Given the description of an element on the screen output the (x, y) to click on. 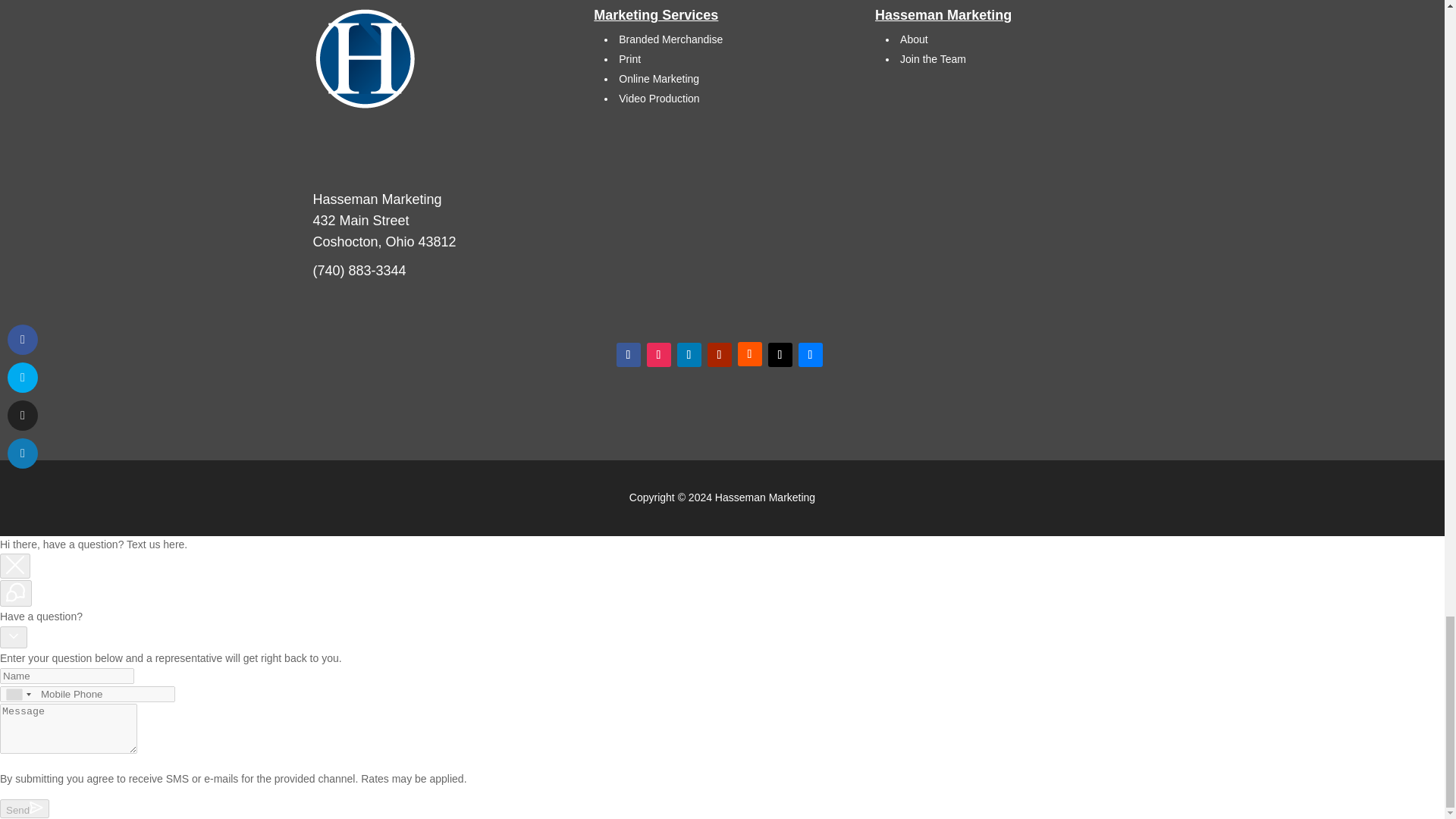
Follow on Facebook (627, 354)
Follow on Youtube (718, 354)
Follow on LinkedIn (688, 354)
HM Logo No Text (366, 59)
Follow on Instagram (657, 354)
Follow on App Store (809, 354)
Follow on TikTok (779, 354)
Follow on SoundCloud (748, 354)
